Given the description of an element on the screen output the (x, y) to click on. 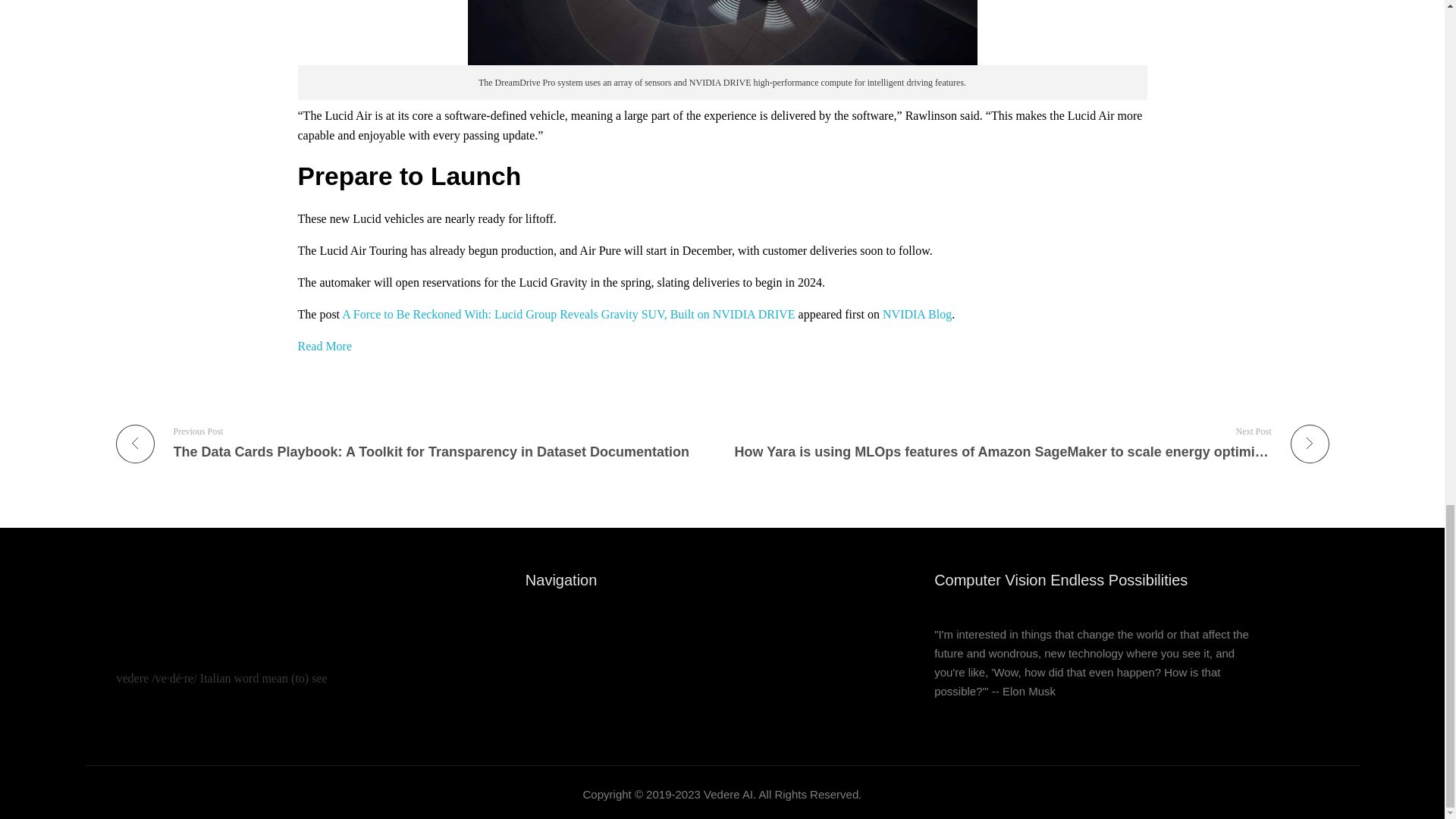
NVIDIA Blog (917, 314)
Read More (324, 345)
